Given the description of an element on the screen output the (x, y) to click on. 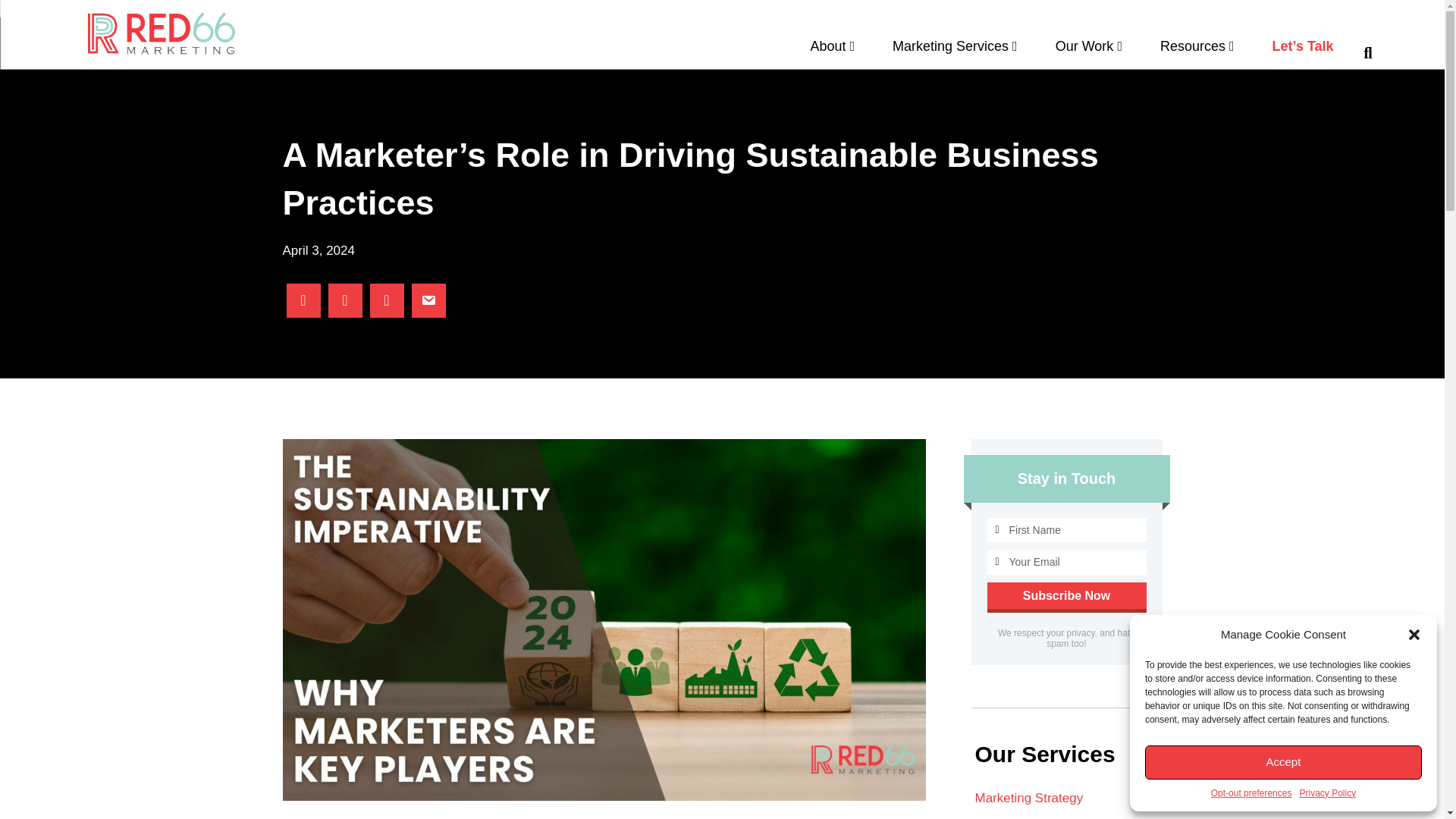
Privacy Policy (1326, 793)
Marketing Services (954, 52)
Resources (1197, 52)
Our Work (1088, 52)
About (831, 52)
Opt-out preferences (1251, 793)
Subscribe Now (1067, 595)
Accept (1283, 762)
